Given the description of an element on the screen output the (x, y) to click on. 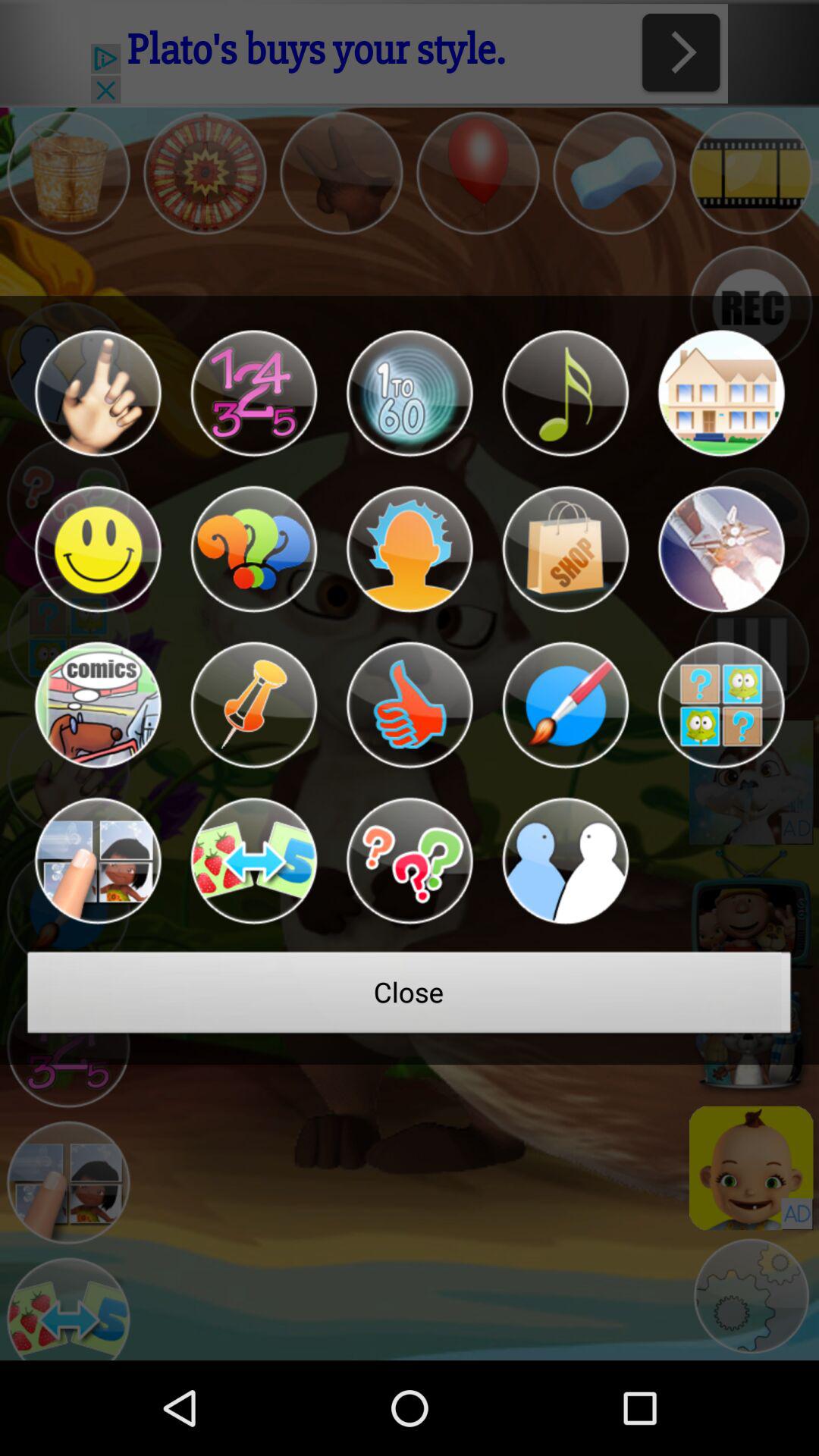
switches to the paintbrush option (565, 705)
